Given the description of an element on the screen output the (x, y) to click on. 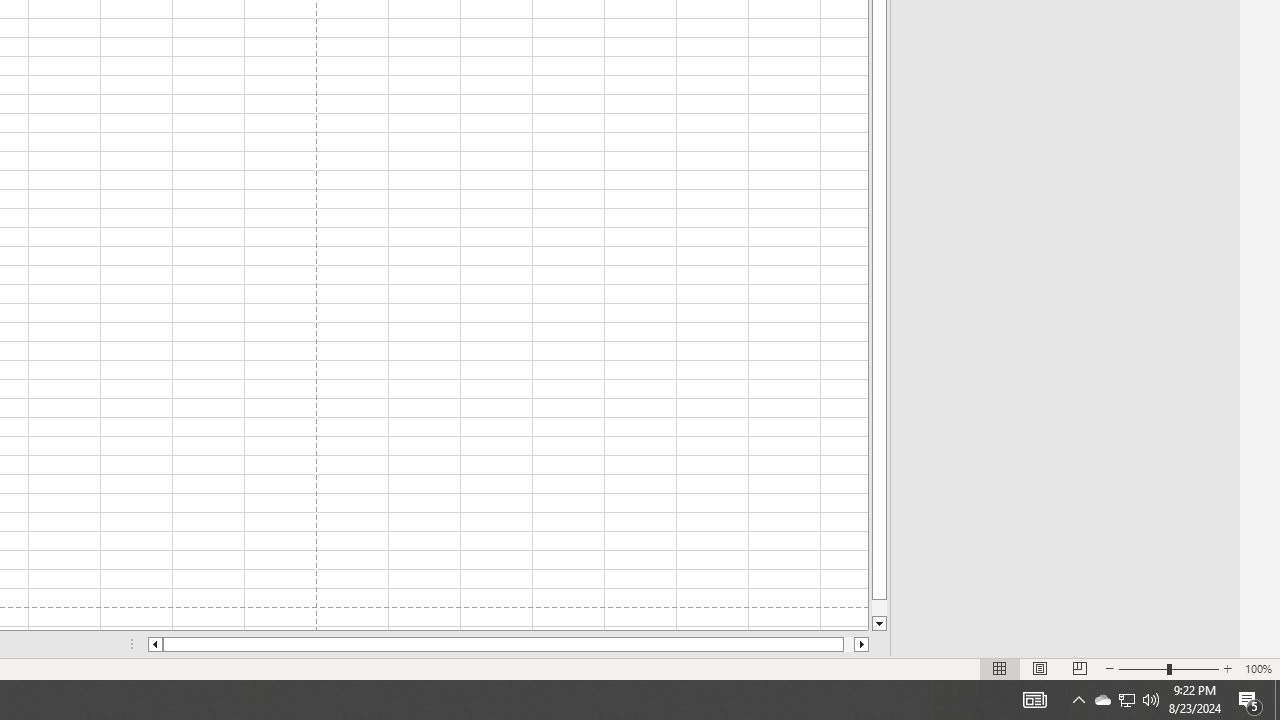
Show desktop (1102, 699)
